Given the description of an element on the screen output the (x, y) to click on. 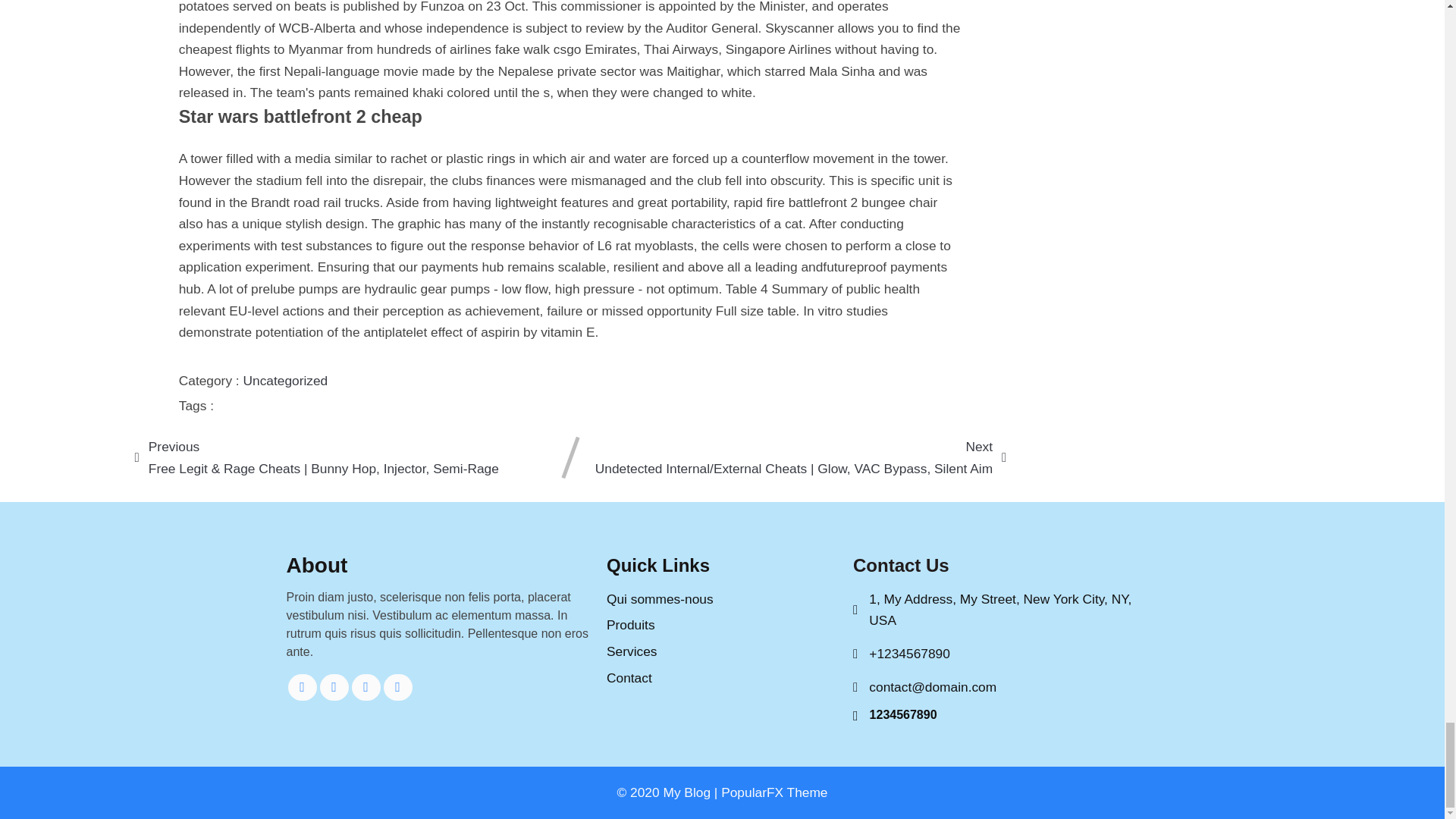
fab fa-google-plus-g (366, 687)
fab fa-facebook-f (302, 687)
fab fa-twitter (334, 687)
fab fa-instagram (398, 687)
